Given the description of an element on the screen output the (x, y) to click on. 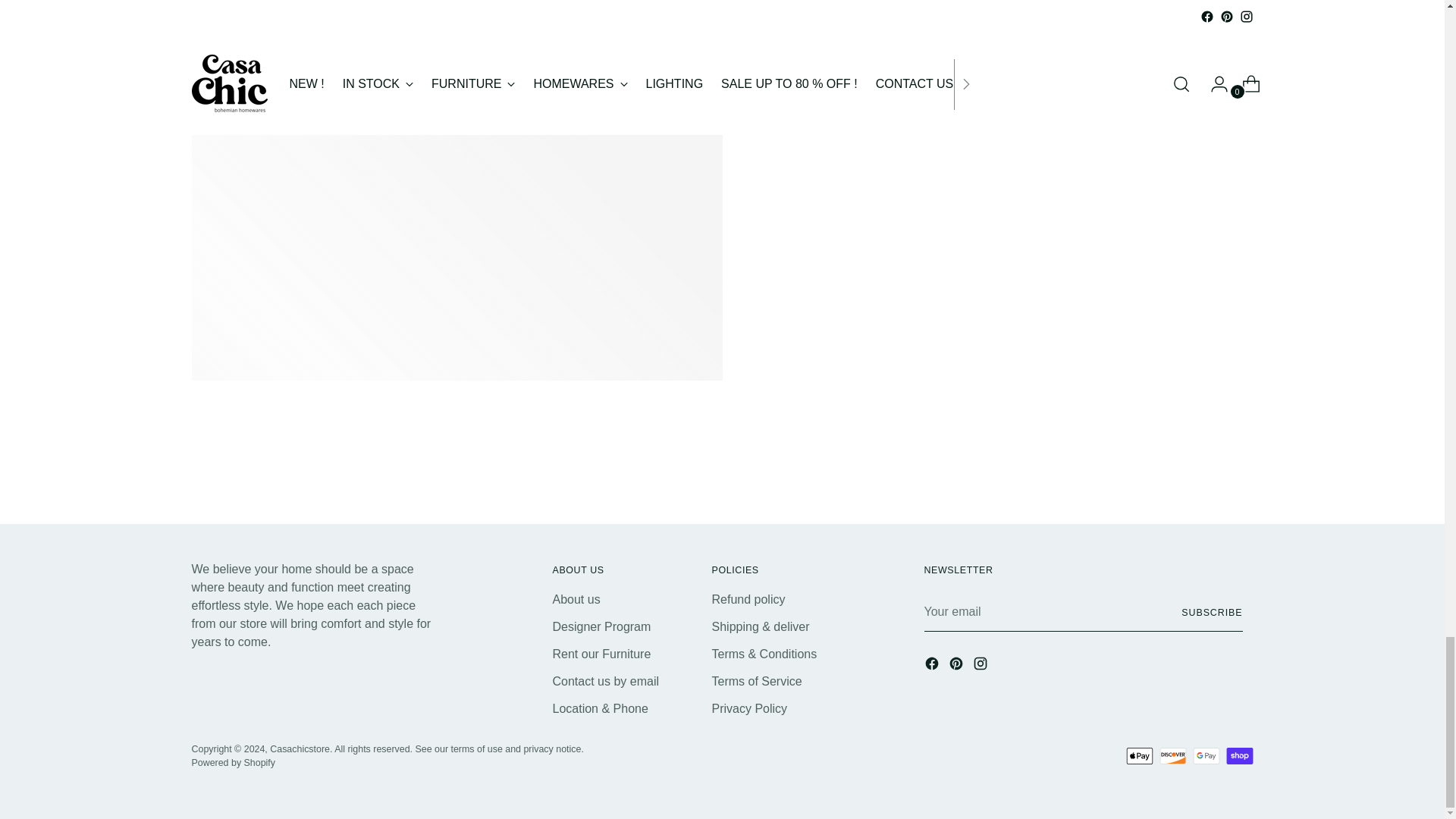
Casachicstore on Instagram (981, 666)
Casachicstore on Pinterest (956, 666)
Casachicstore on Facebook (932, 666)
